Given the description of an element on the screen output the (x, y) to click on. 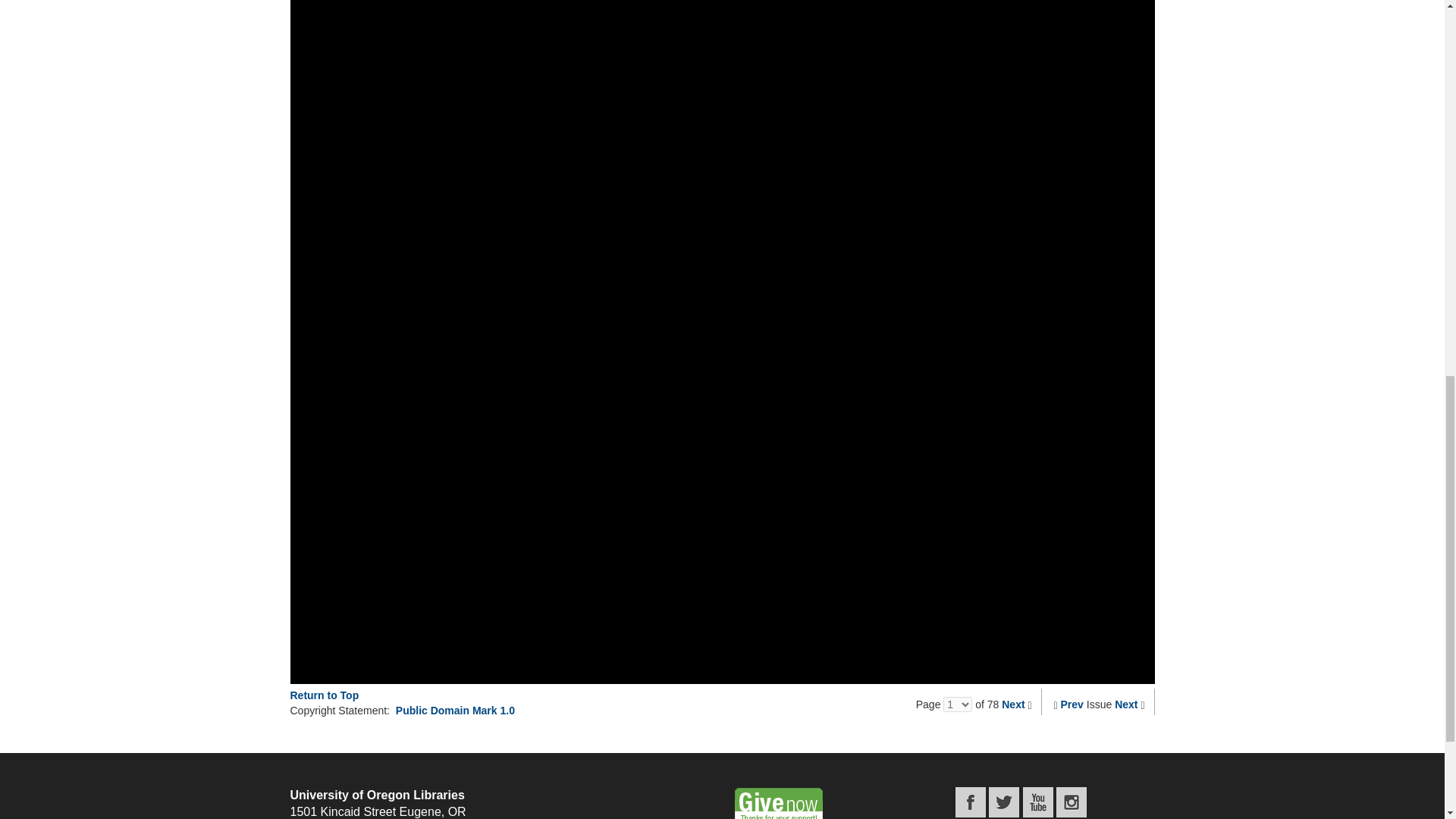
Next (1013, 704)
Prev (1072, 704)
Return to Top (323, 695)
Next (1126, 704)
Public Domain Mark 1.0 (455, 710)
